Given the description of an element on the screen output the (x, y) to click on. 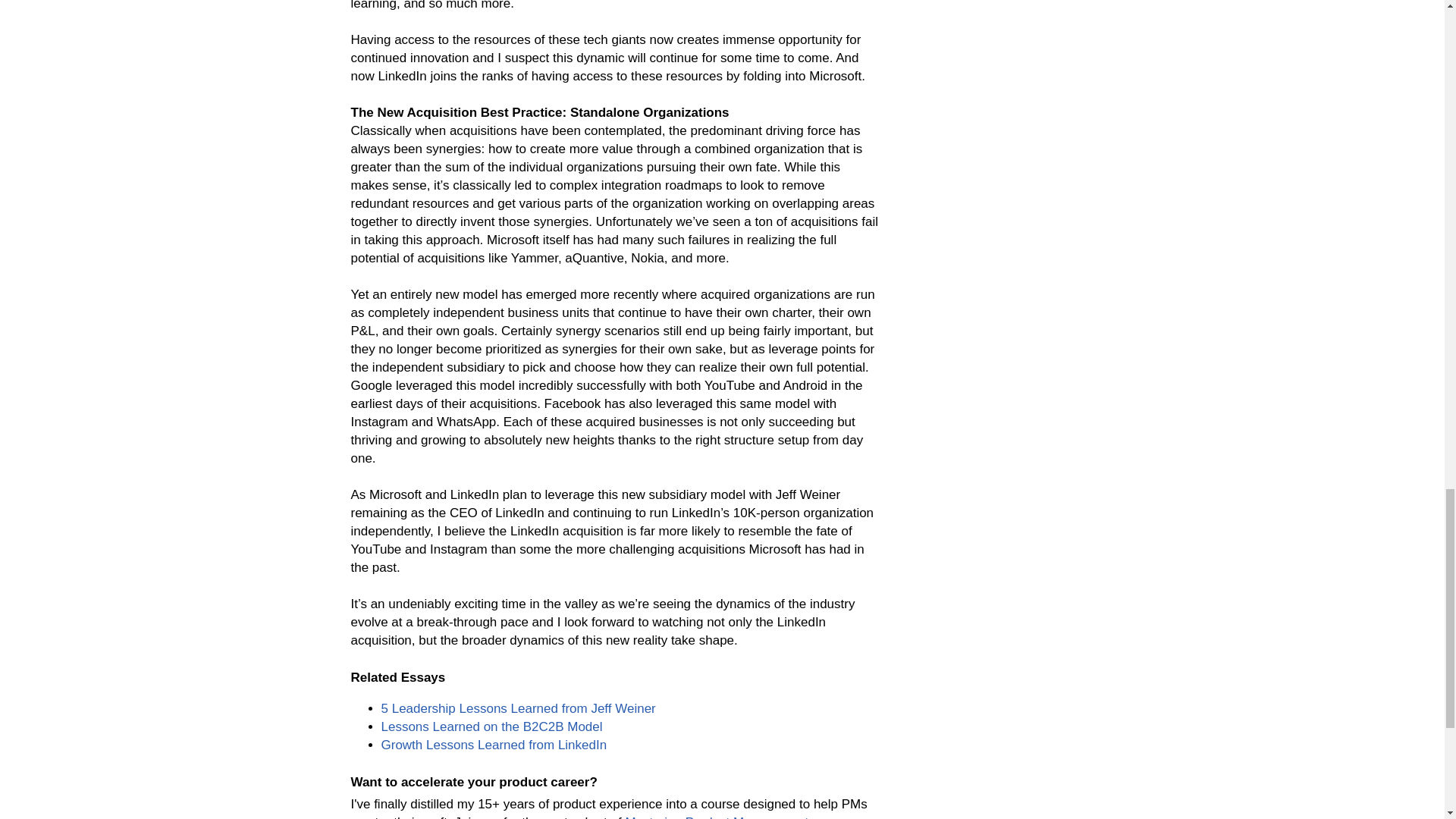
Mastering Product Management (716, 816)
Lessons Learned on the B2C2B Model (491, 726)
5 Leadership Lessons Learned from Jeff Weiner (517, 708)
Growth Lessons Learned from LinkedIn (493, 744)
